Given the description of an element on the screen output the (x, y) to click on. 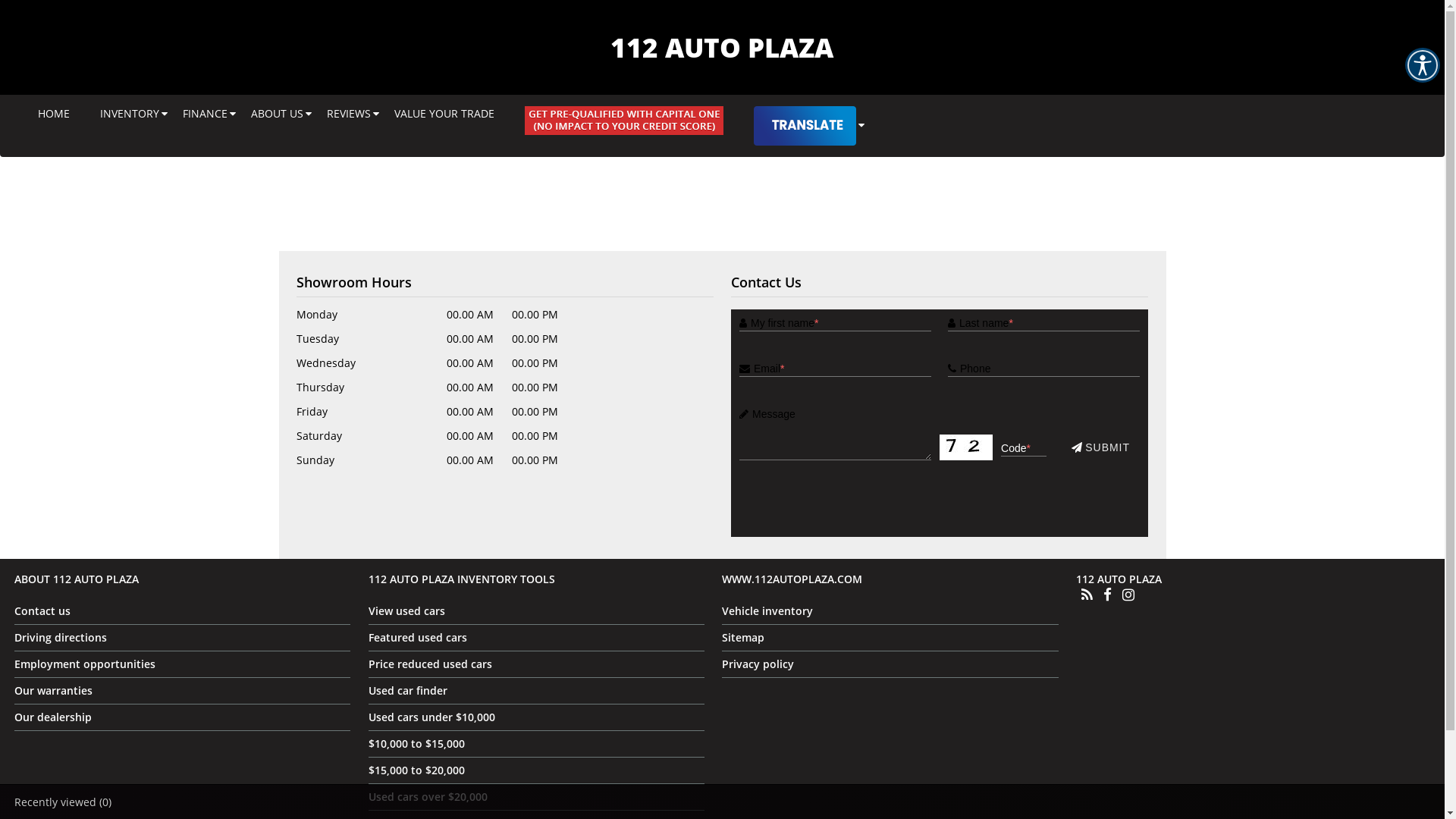
HOME Element type: text (53, 113)
View used cars Element type: text (406, 610)
Driving directions Element type: text (60, 637)
VALUE YOUR TRADE Element type: text (444, 113)
FINANCE Element type: text (204, 113)
$15,000 to $20,000 Element type: text (416, 769)
Used cars under $10,000 Element type: text (431, 716)
Sitemap Element type: text (742, 637)
WWW.112AUTOPLAZA.COM Element type: text (791, 578)
INVENTORY Element type: text (129, 113)
Price reduced used cars Element type: text (430, 663)
Featured used cars Element type: text (417, 637)
GET PRE-QUALIFIED Element type: hover (623, 120)
112 AUTO PLAZA Element type: text (722, 47)
Our warranties Element type: text (53, 690)
Vehicle inventory Element type: text (766, 610)
Privacy policy Element type: text (757, 663)
$10,000 to $15,000 Element type: text (416, 743)
Used cars over $20,000 Element type: text (427, 796)
REVIEWS Element type: text (348, 113)
ABOUT US Element type: text (276, 113)
Transilator Element type: hover (804, 125)
Our dealership Element type: text (52, 716)
Used car finder Element type: text (407, 690)
inventory Element type: text (746, 90)
Employment opportunities Element type: text (84, 663)
Contact us Element type: text (42, 610)
Home Element type: text (801, 90)
